Given the description of an element on the screen output the (x, y) to click on. 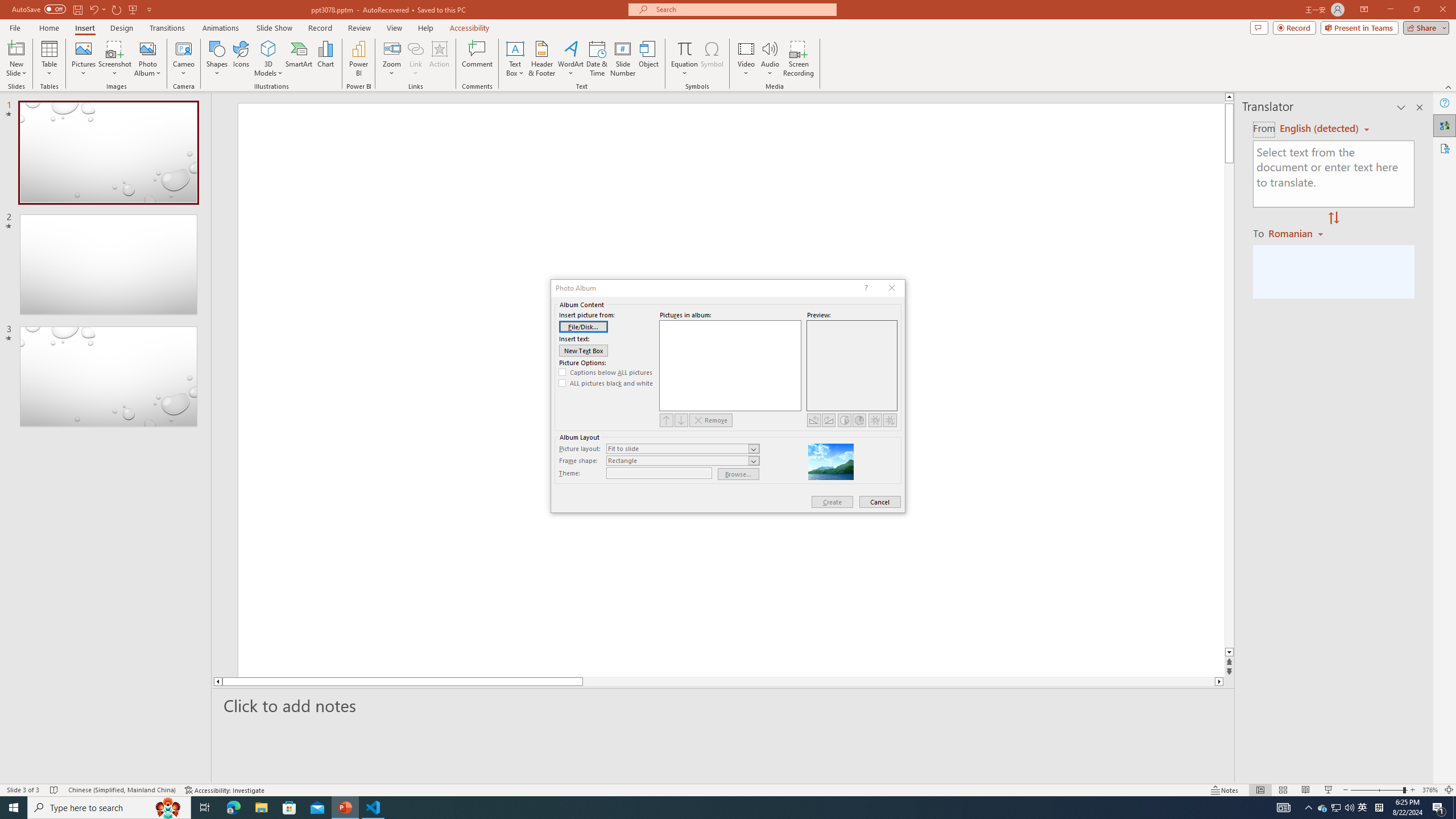
3D Models (268, 48)
Screenshot (114, 58)
Browse... (738, 473)
Theme (658, 473)
Romanian (1296, 232)
